Given the description of an element on the screen output the (x, y) to click on. 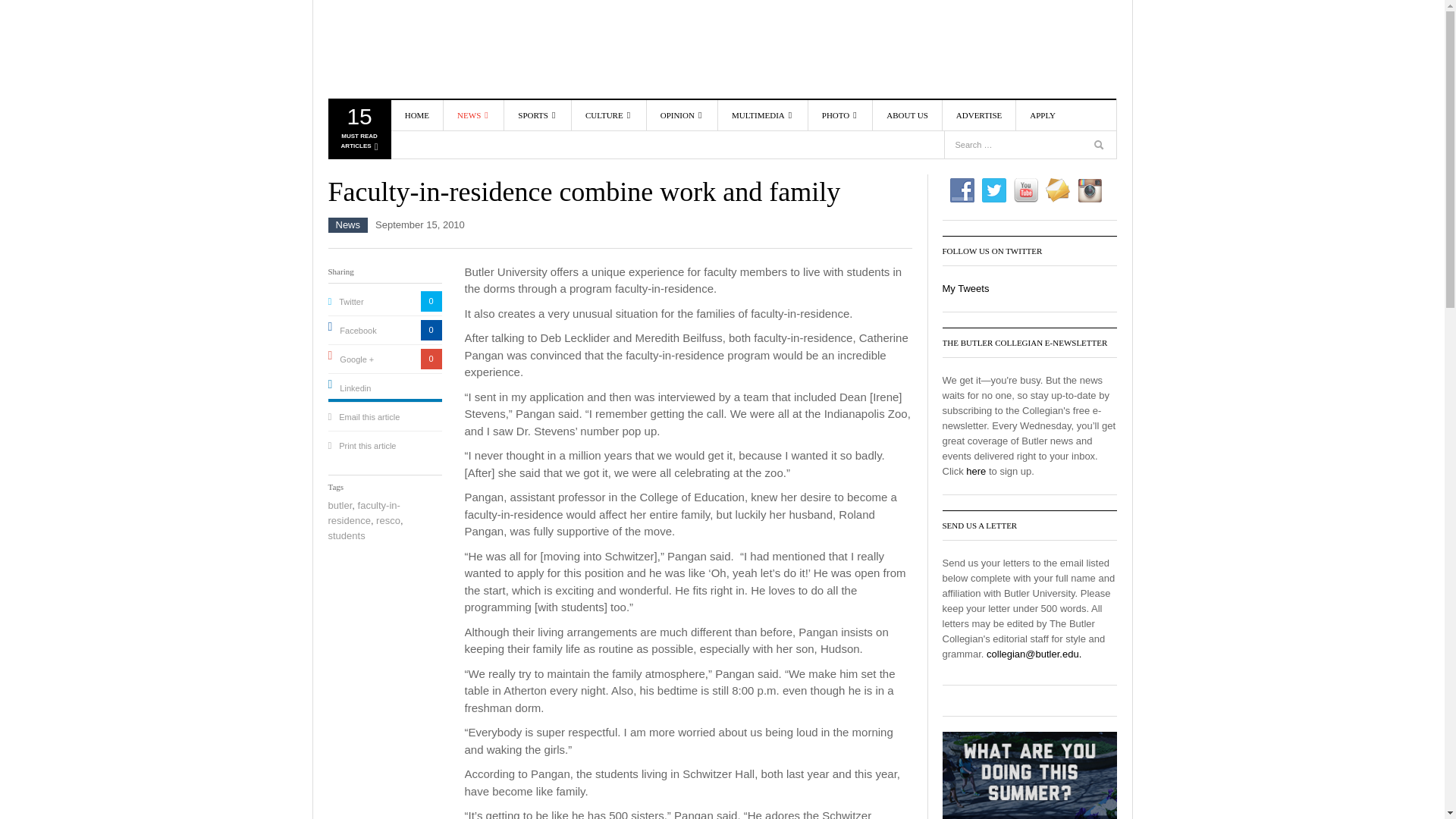
The Butler Collegian (414, 49)
NEWS (499, 149)
HOME (416, 114)
The Butler Collegian (358, 132)
NEWS (414, 49)
Search (473, 114)
BREAKING NEWS (1100, 146)
Search (499, 171)
